Given the description of an element on the screen output the (x, y) to click on. 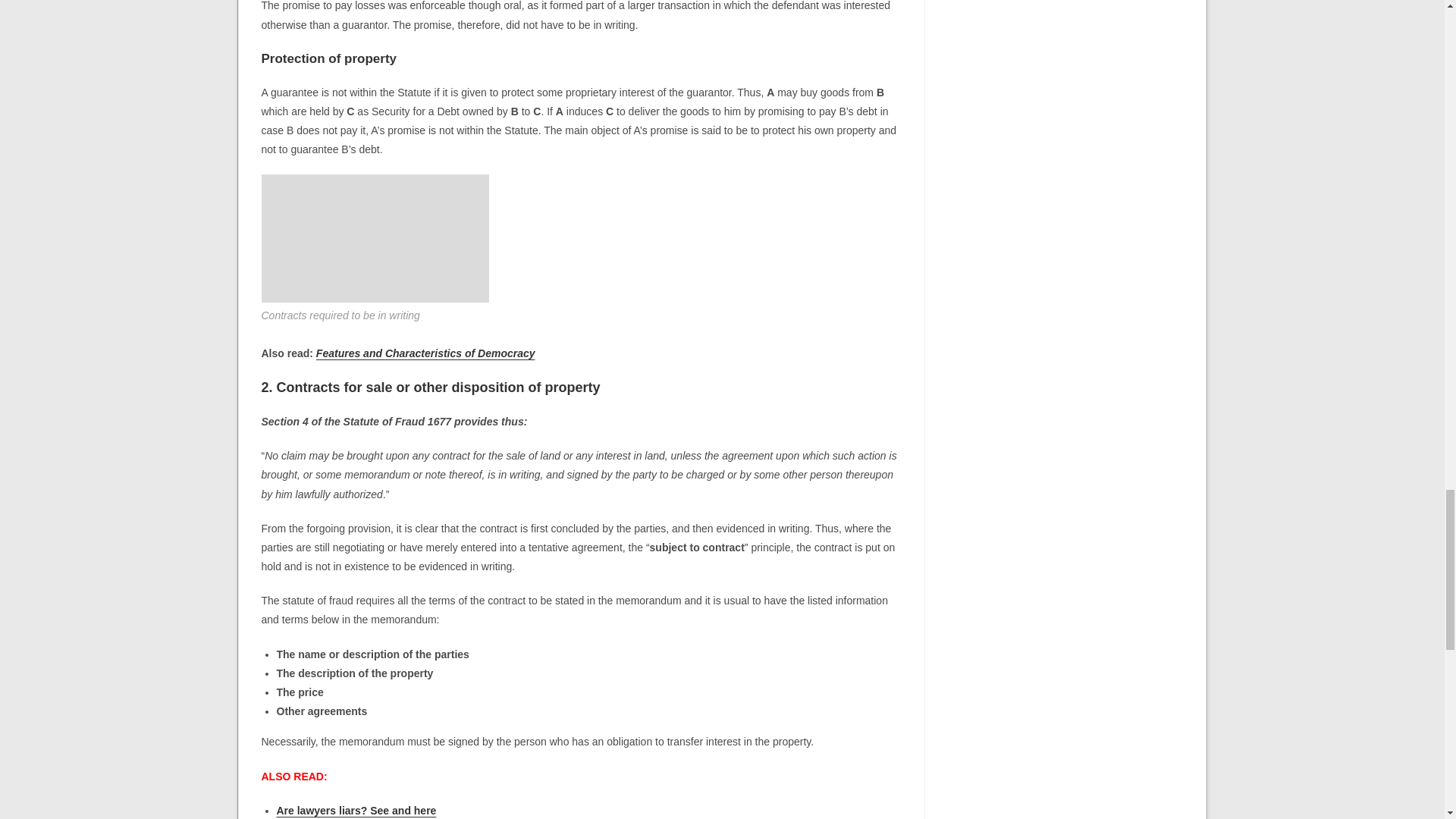
Are lawyers liars? See and here (355, 810)
Features and Characteristics of Democracy (425, 353)
